Given the description of an element on the screen output the (x, y) to click on. 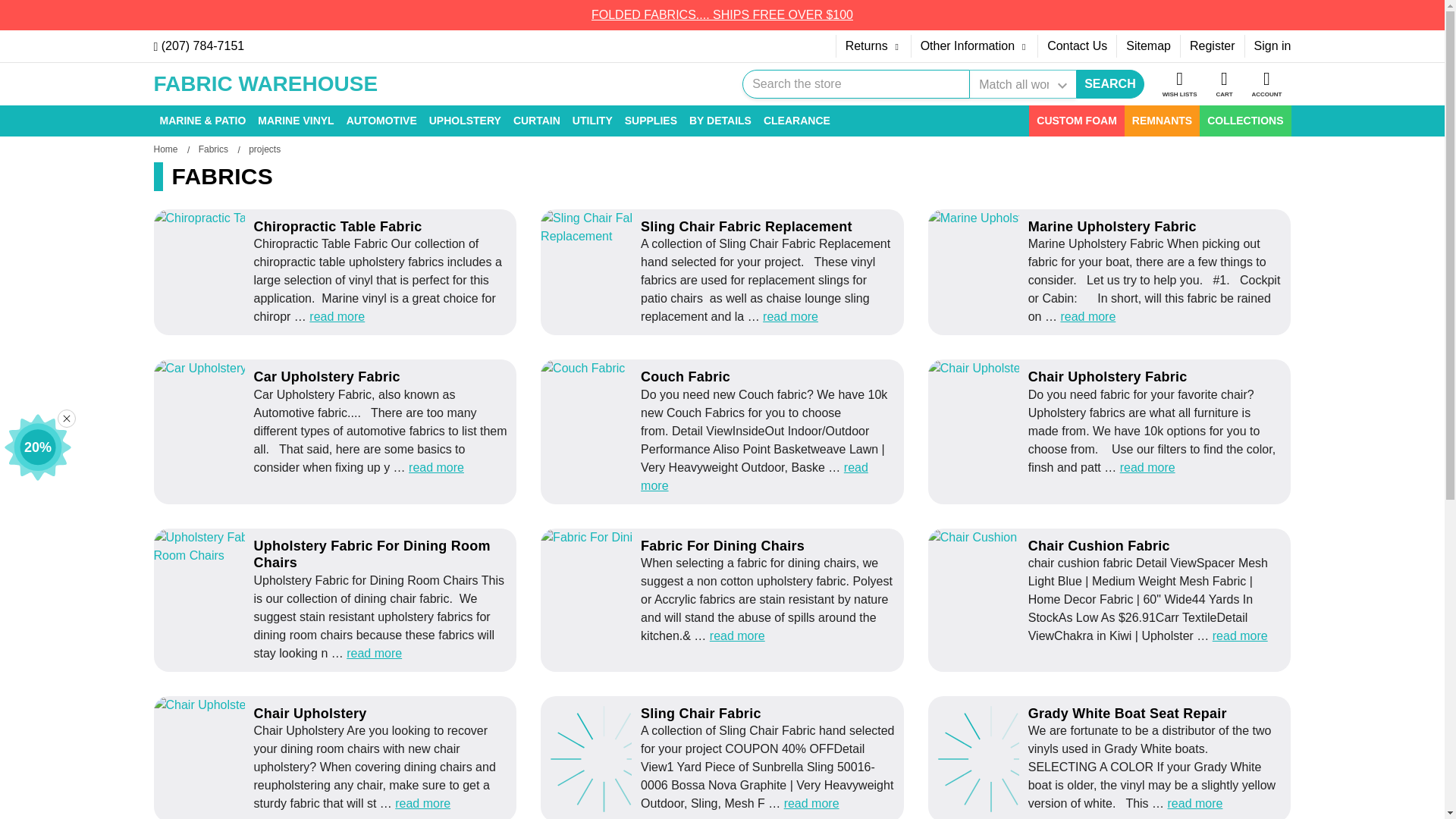
Sling Chair Fabric Replacement (624, 272)
Chiropractic Table Fabric (236, 272)
Sitemap (1147, 46)
Marine Upholstery Fabric (1012, 272)
Register (1212, 46)
Close (66, 418)
Other Information (974, 46)
Chair Upholstery (236, 757)
Returns (873, 46)
ACCOUNT (1265, 84)
